Given the description of an element on the screen output the (x, y) to click on. 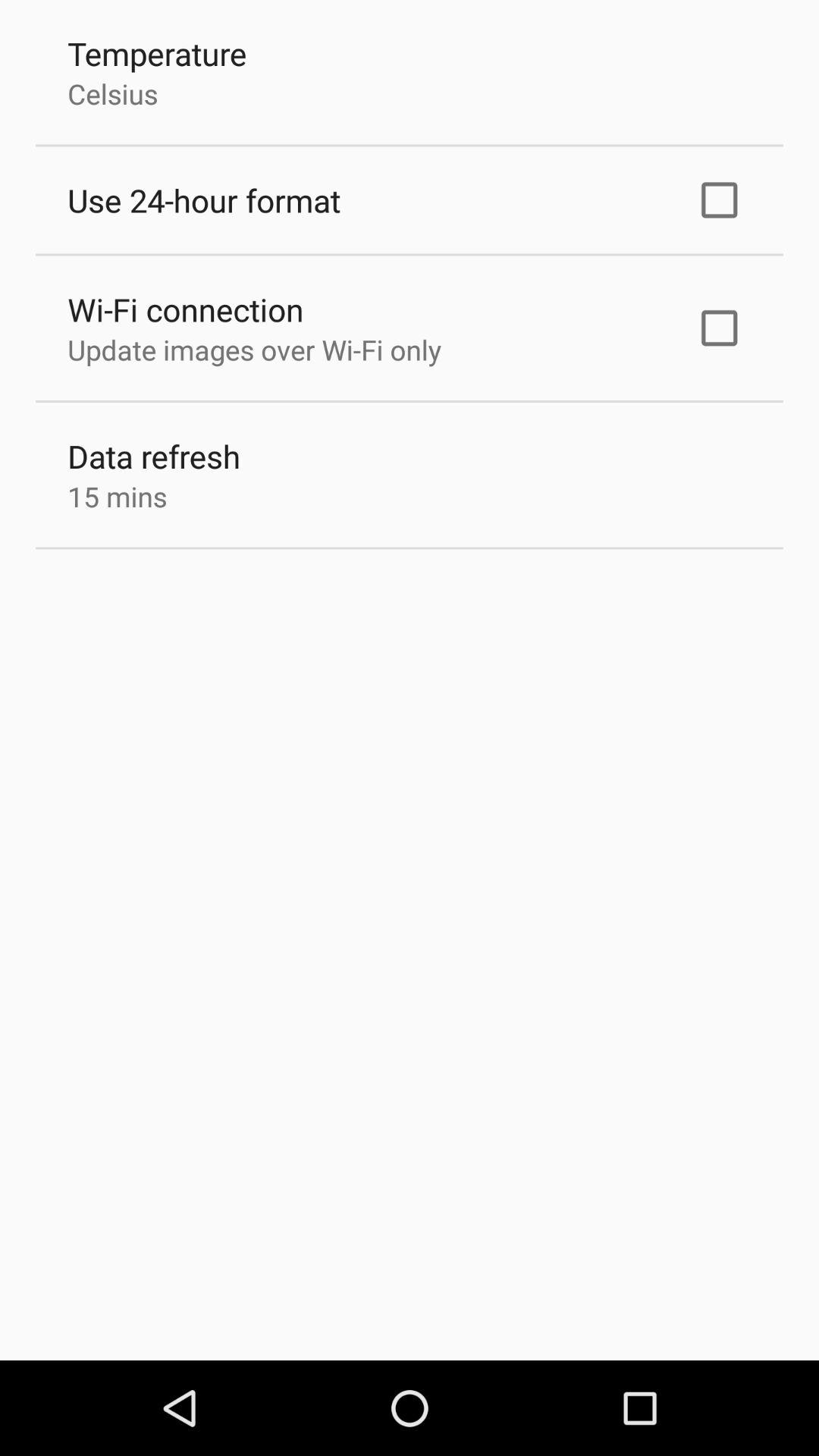
launch the item above the wi-fi connection app (203, 199)
